Given the description of an element on the screen output the (x, y) to click on. 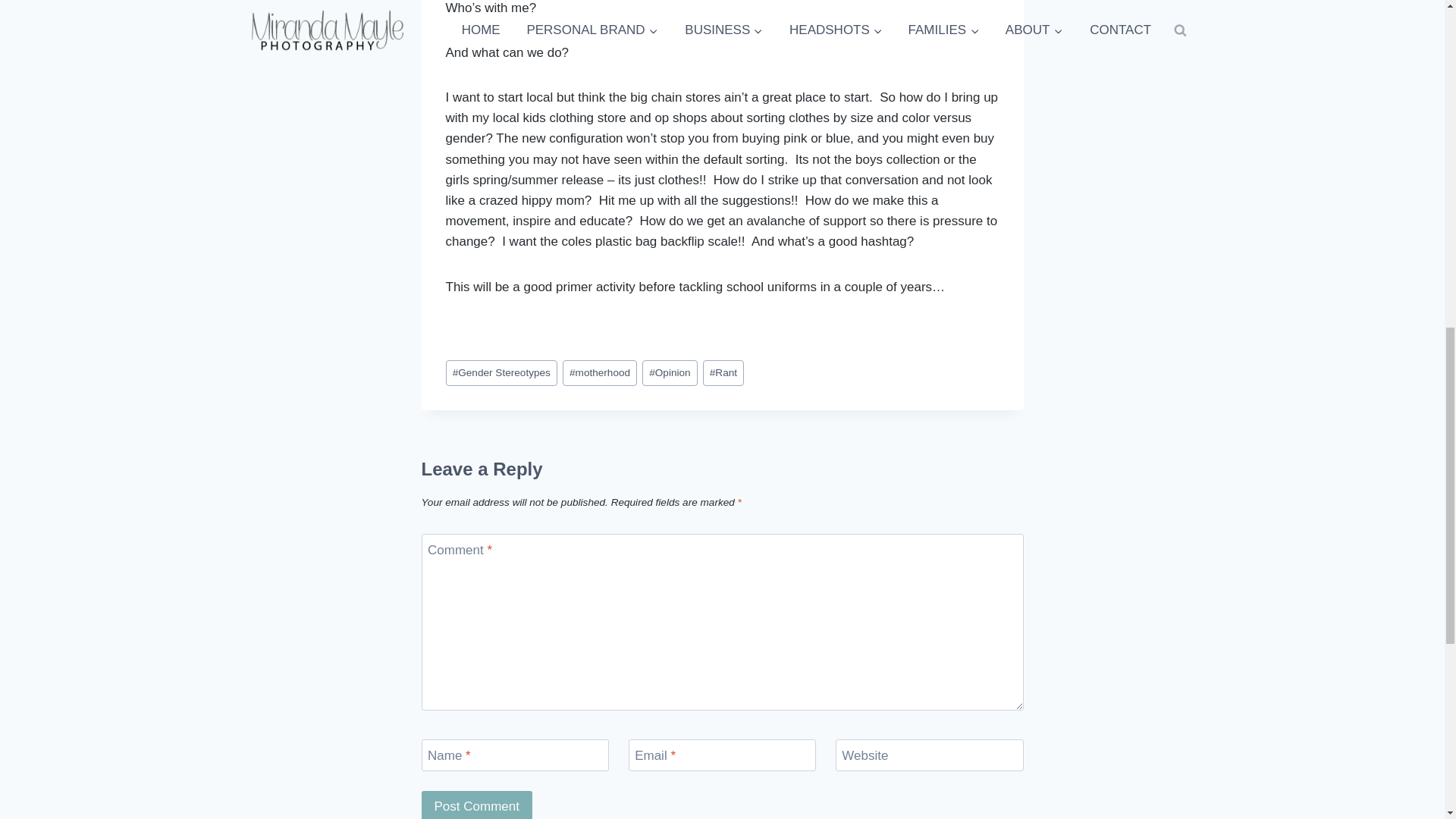
motherhood (599, 373)
Rant (723, 373)
Post Comment (477, 805)
Gender Stereotypes (501, 373)
Opinion (669, 373)
